Given the description of an element on the screen output the (x, y) to click on. 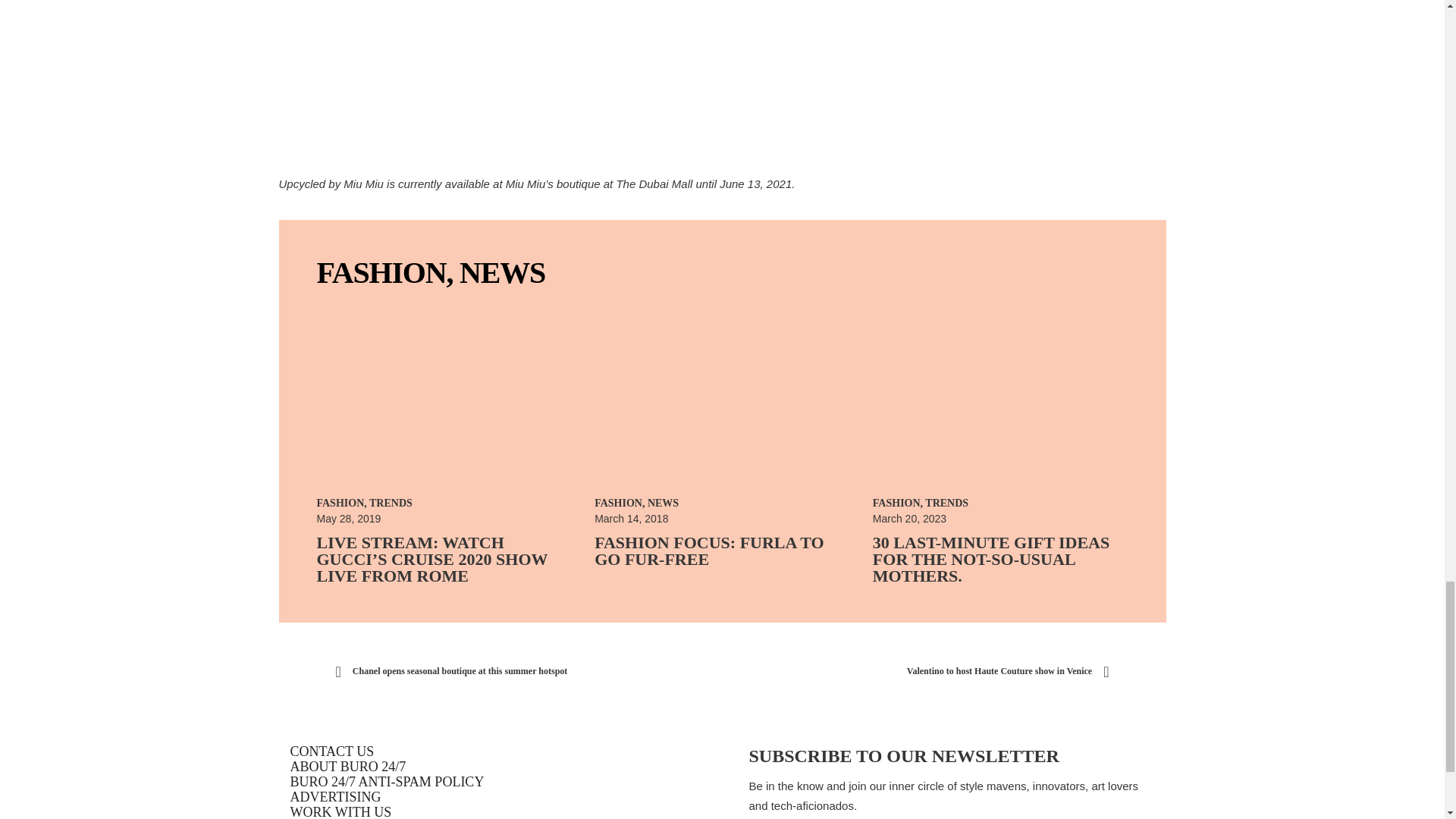
FASHION (381, 272)
FASHION (341, 502)
NEWS (502, 272)
